Given the description of an element on the screen output the (x, y) to click on. 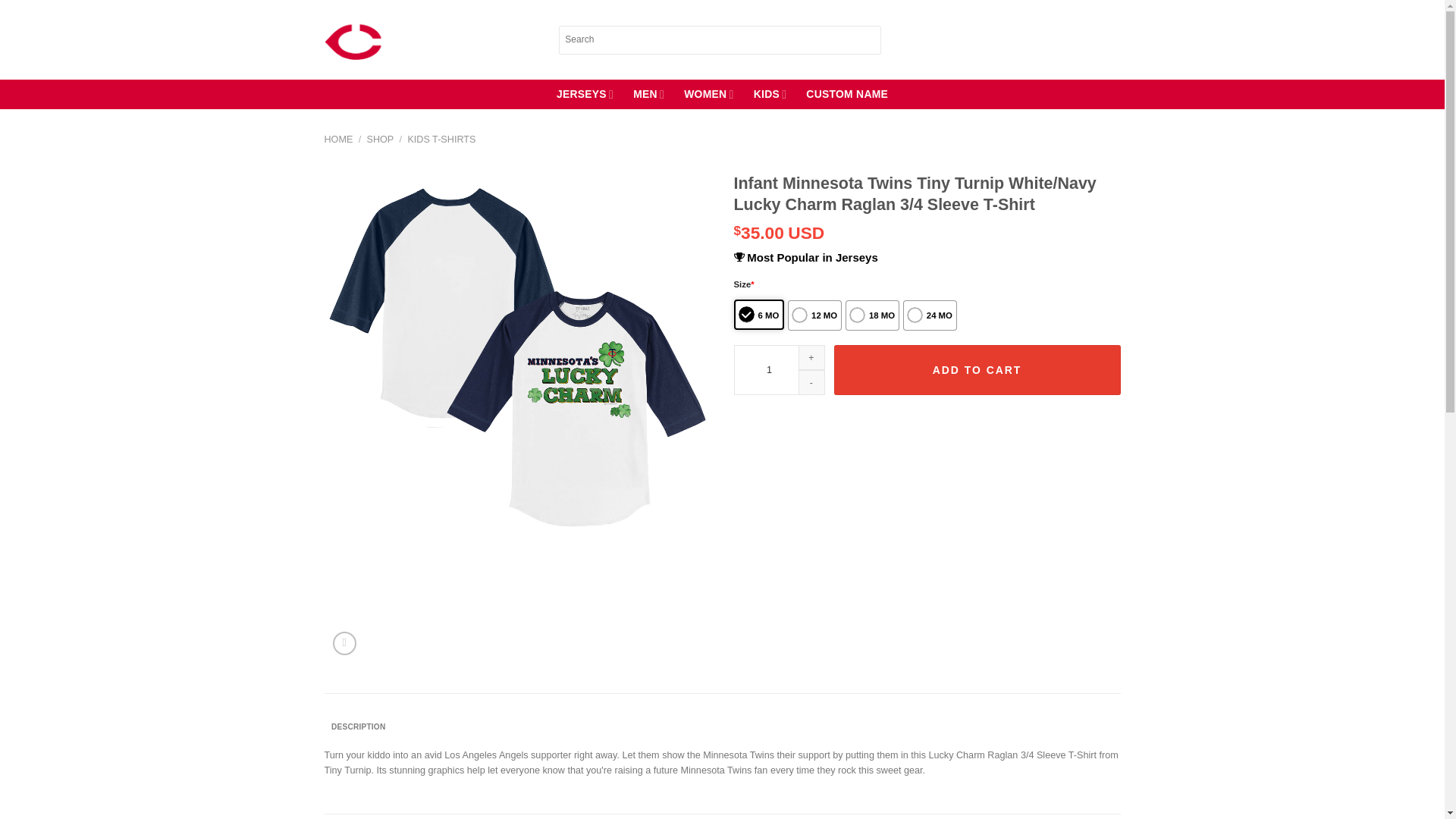
ADD TO CART (977, 369)
HOME (338, 139)
1 (779, 369)
12 MO (814, 315)
24 MO (929, 315)
18 MO (872, 315)
KIDS (770, 93)
JERSEYS (584, 93)
CUSTOM NAME (847, 93)
Zoom (344, 643)
Qty (779, 369)
KIDS T-SHIRTS (441, 139)
SHOP (379, 139)
DESCRIPTION (358, 726)
Cart (1113, 39)
